Given the description of an element on the screen output the (x, y) to click on. 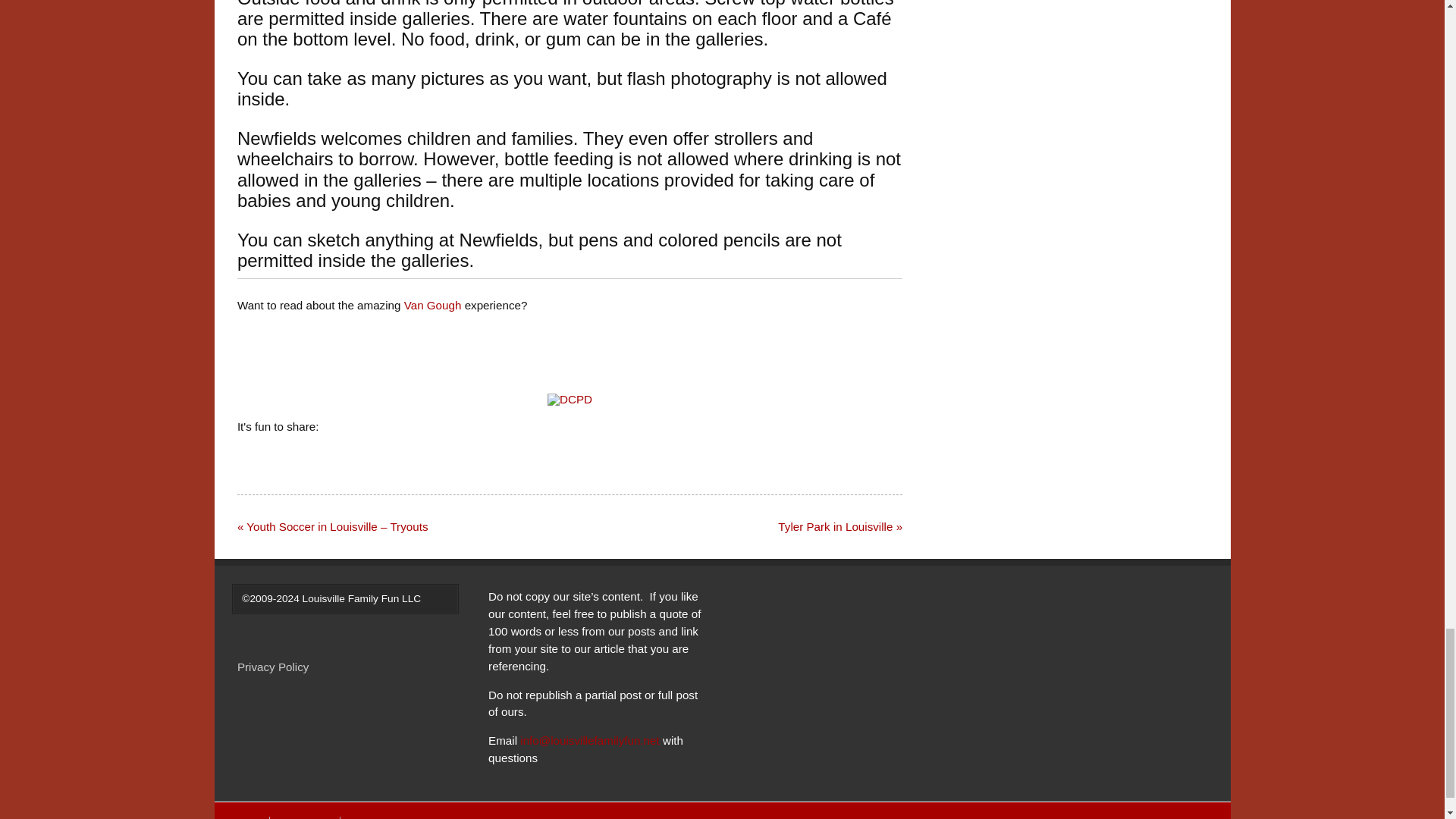
Van Gough (432, 305)
